Given the description of an element on the screen output the (x, y) to click on. 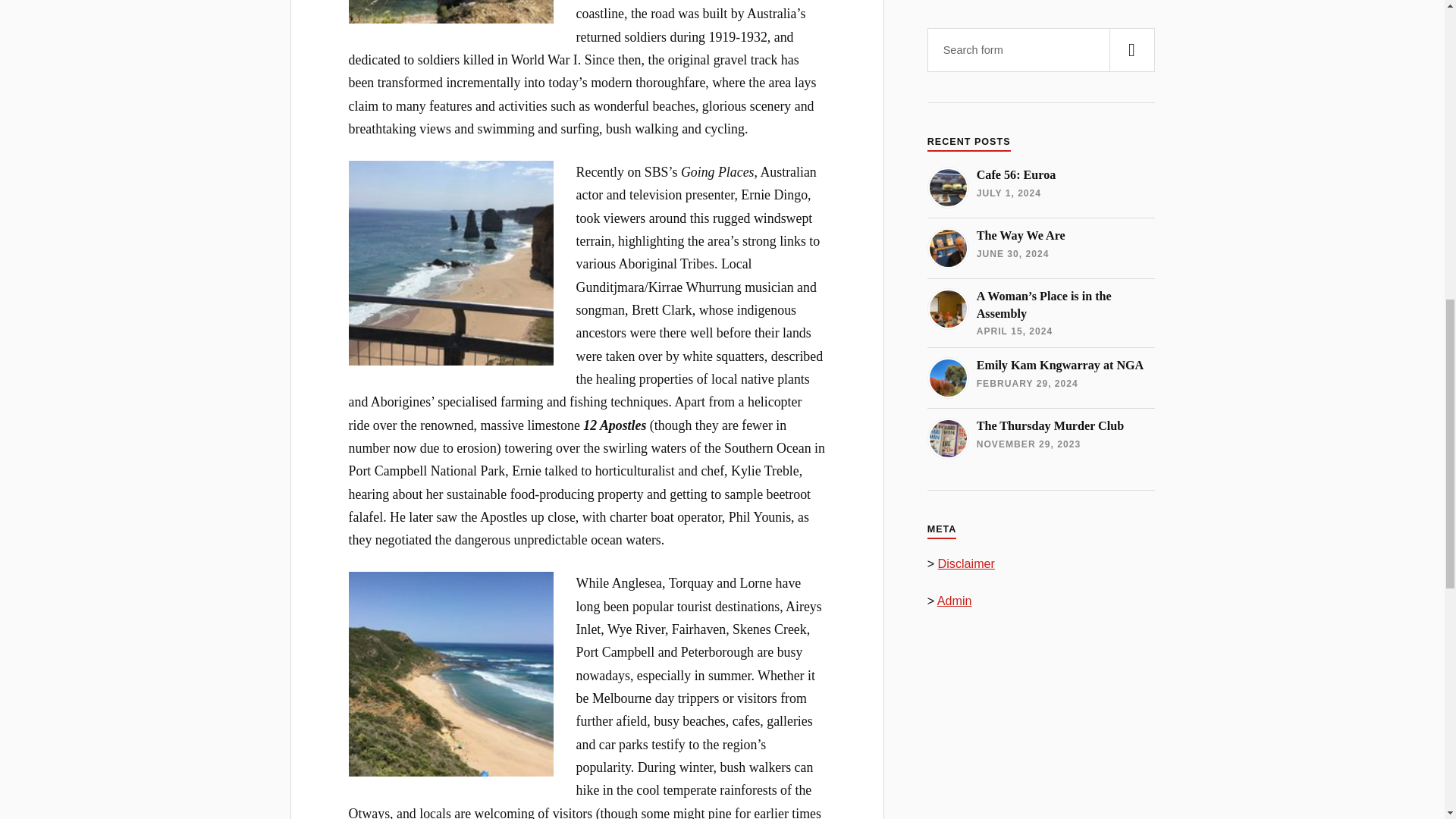
Disclaimer (965, 563)
Admin (954, 600)
